Given the description of an element on the screen output the (x, y) to click on. 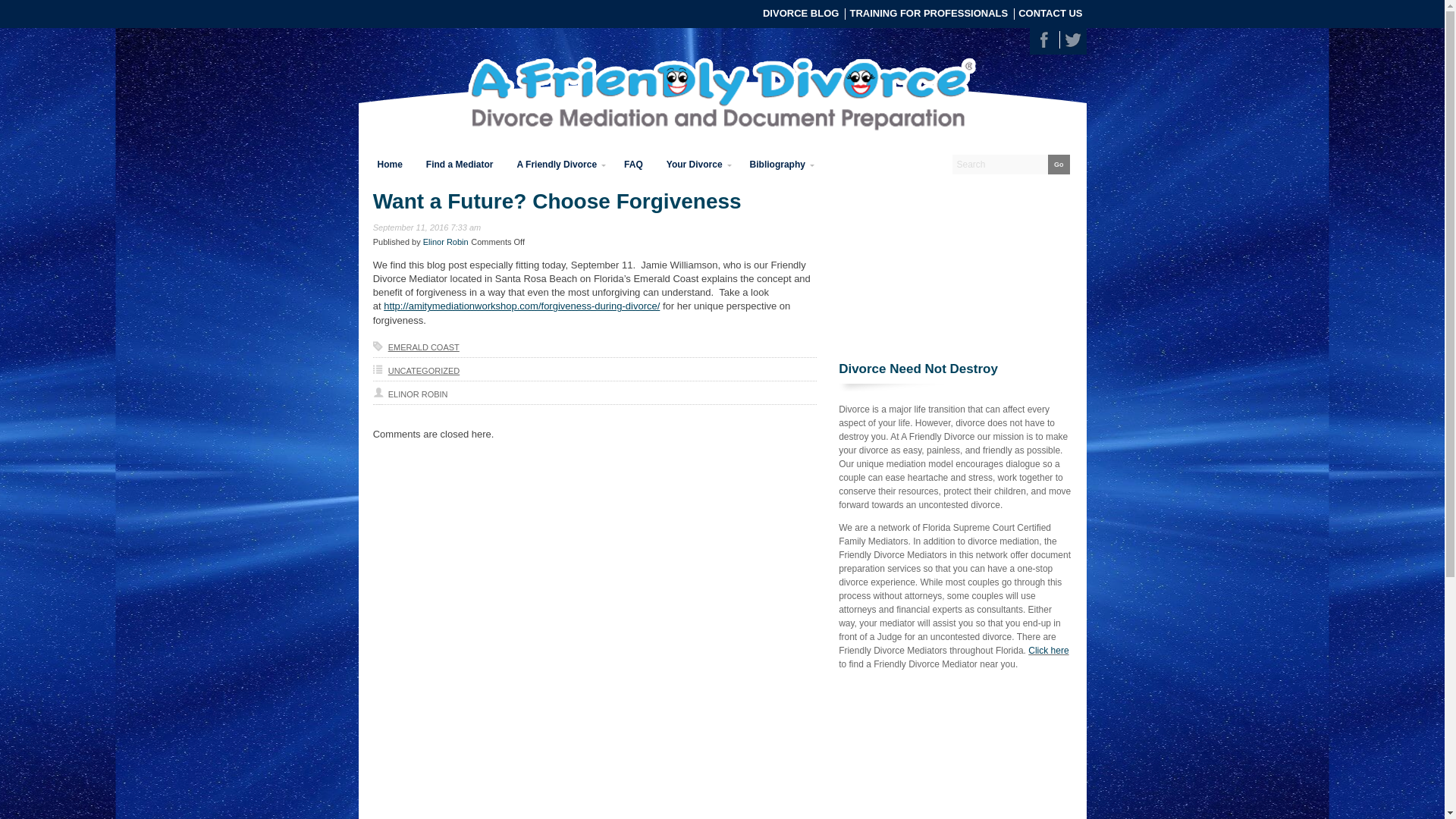
DIVORCE BLOG (800, 12)
FAQ (632, 164)
Posts by Elinor Robin (445, 241)
Facebook (1043, 39)
CONTACT US (1049, 12)
TRAINING FOR PROFESSIONALS (927, 12)
Your Divorce (695, 164)
Twitter (1072, 39)
A Friendly Divorce (558, 164)
Go (1059, 164)
Home (389, 164)
Find a Mediator (459, 164)
Bibliography (779, 164)
